Given the description of an element on the screen output the (x, y) to click on. 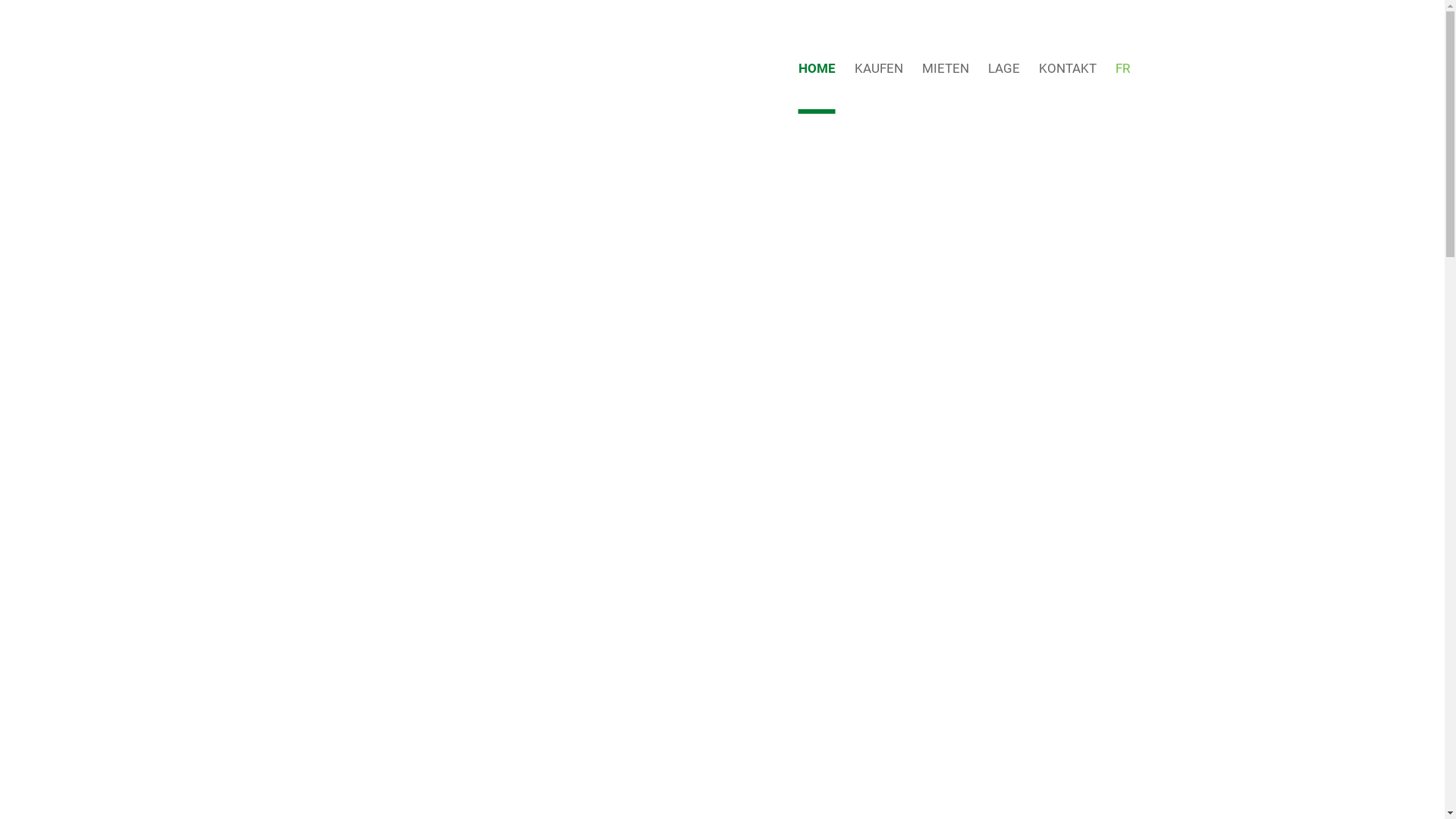
Brieglipark Element type: text (376, 67)
MIETEN Element type: text (945, 67)
FR Element type: text (1121, 67)
HOME Element type: text (815, 67)
LAGE Element type: text (1003, 67)
KONTAKT Element type: text (1067, 67)
KAUFEN Element type: text (877, 67)
